Given the description of an element on the screen output the (x, y) to click on. 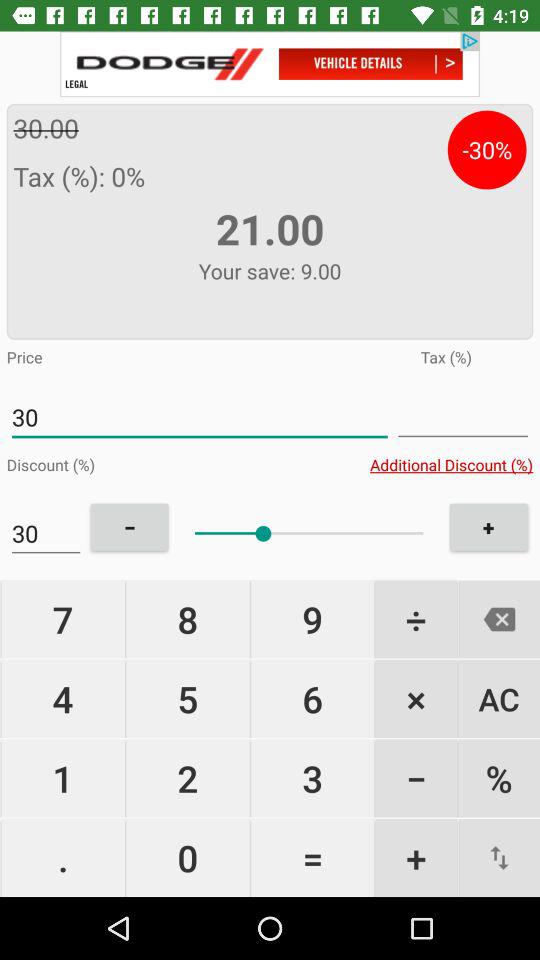
delete (499, 619)
